Given the description of an element on the screen output the (x, y) to click on. 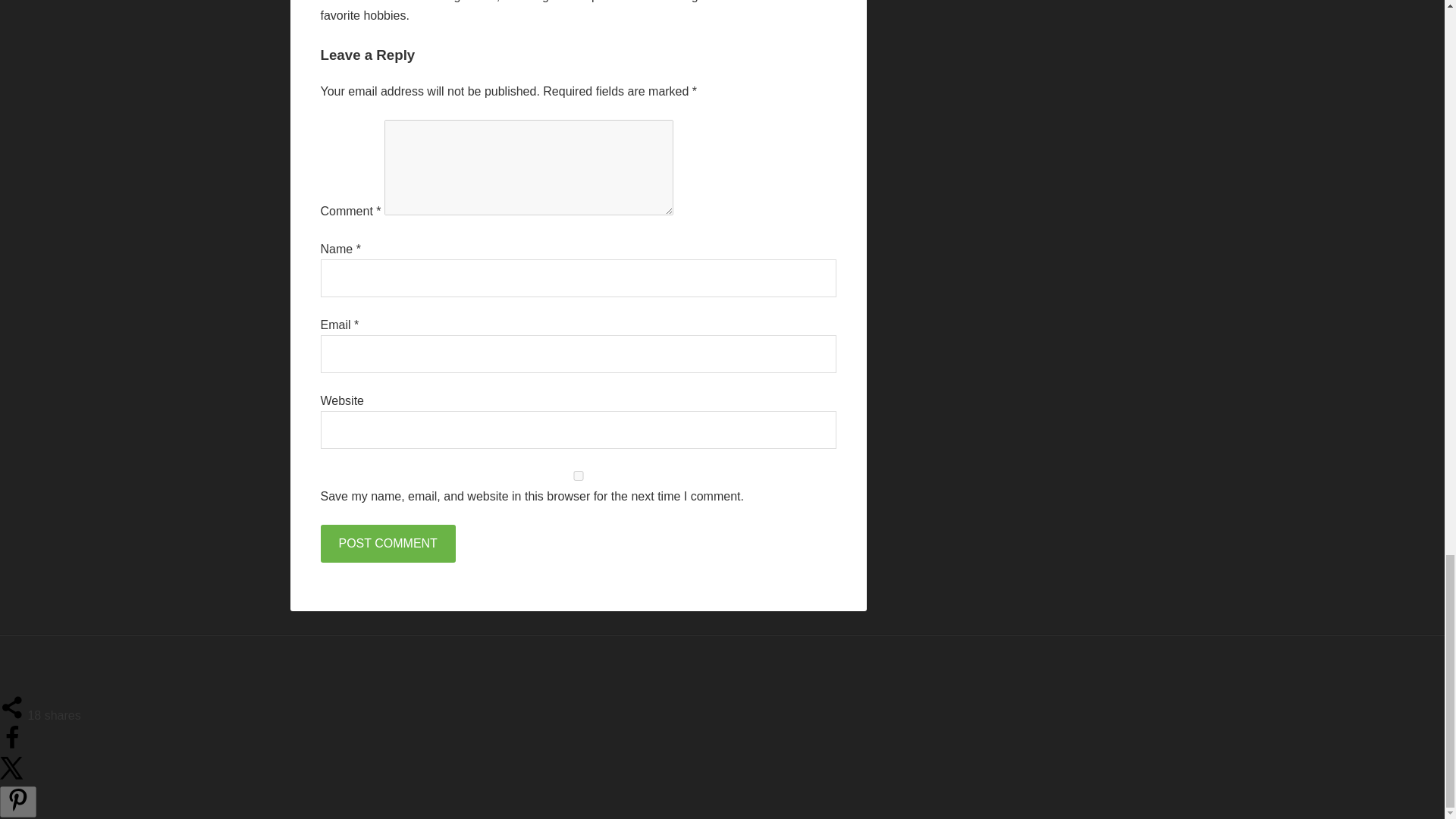
Share on Facebook (12, 745)
Post Comment (387, 543)
yes (577, 475)
Save to Pinterest (18, 801)
Share on X (12, 775)
Post Comment (387, 543)
